Given the description of an element on the screen output the (x, y) to click on. 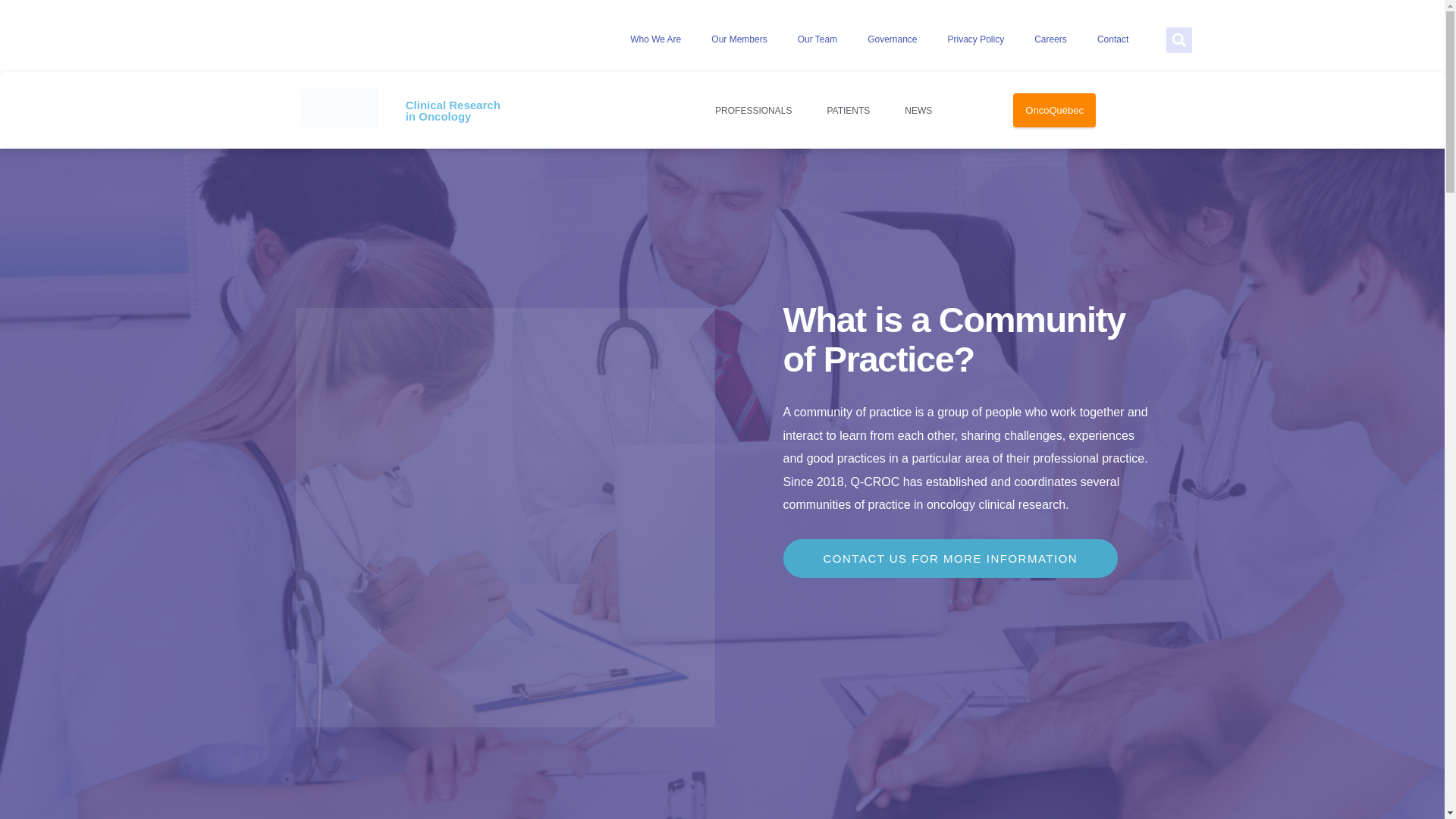
Contact (1111, 39)
Our Members (738, 39)
Who We Are (654, 39)
Governance (891, 39)
Privacy Policy (976, 39)
Our Team (817, 39)
Careers (1050, 39)
